Given the description of an element on the screen output the (x, y) to click on. 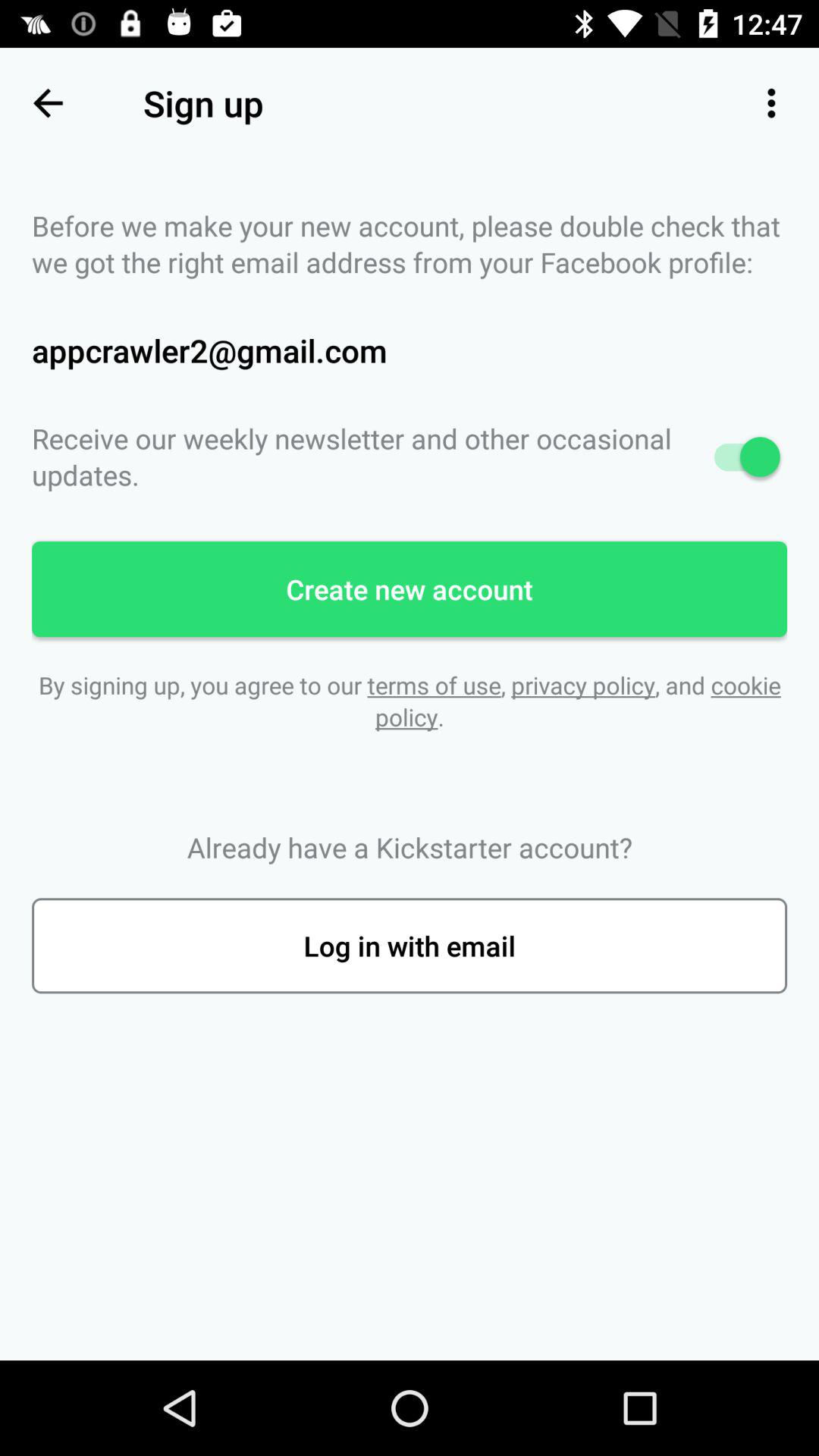
choose by signing up icon (409, 700)
